Given the description of an element on the screen output the (x, y) to click on. 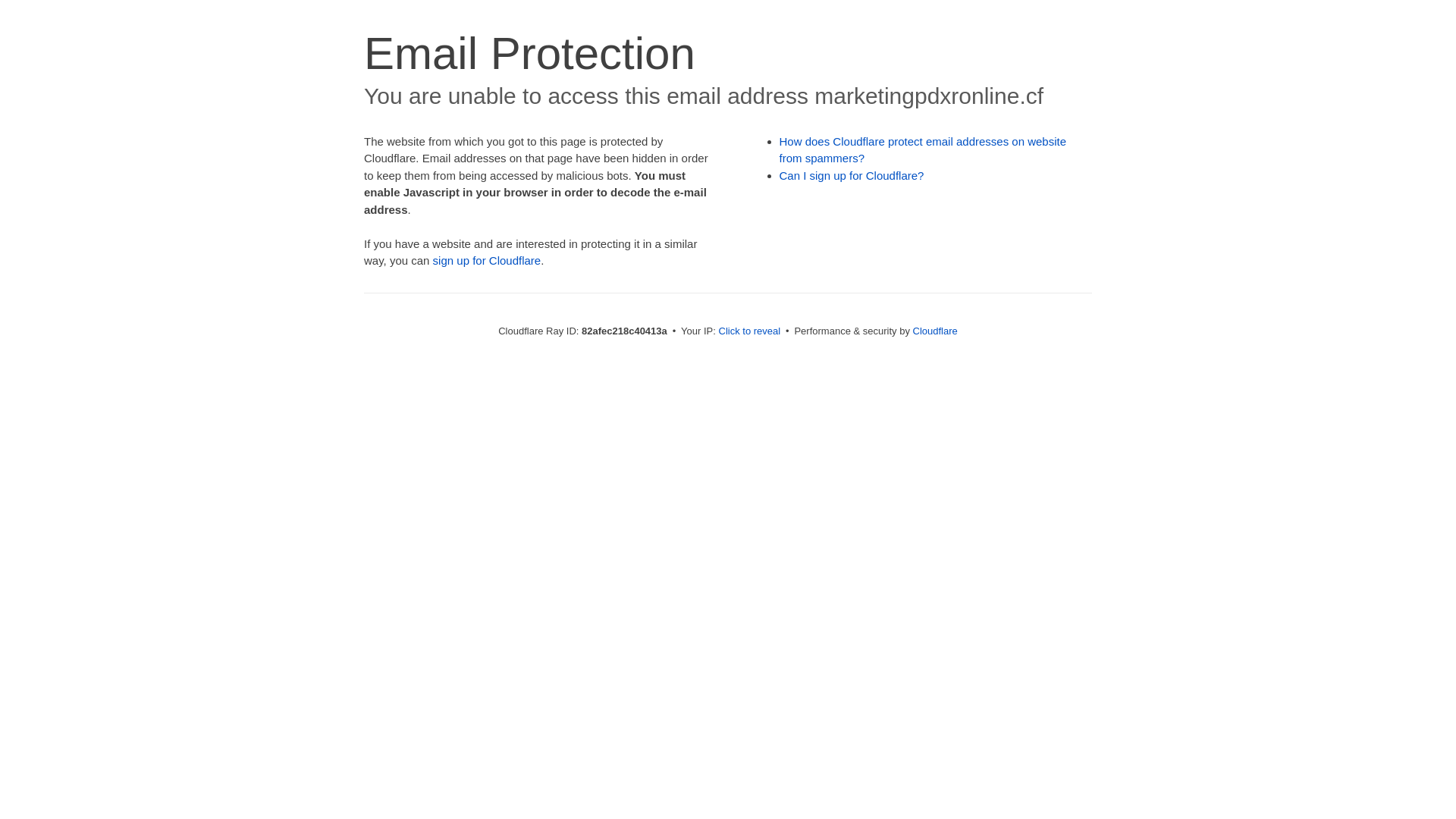
Click to reveal Element type: text (749, 330)
sign up for Cloudflare Element type: text (487, 260)
Can I sign up for Cloudflare? Element type: text (851, 175)
Cloudflare Element type: text (935, 330)
